Given the description of an element on the screen output the (x, y) to click on. 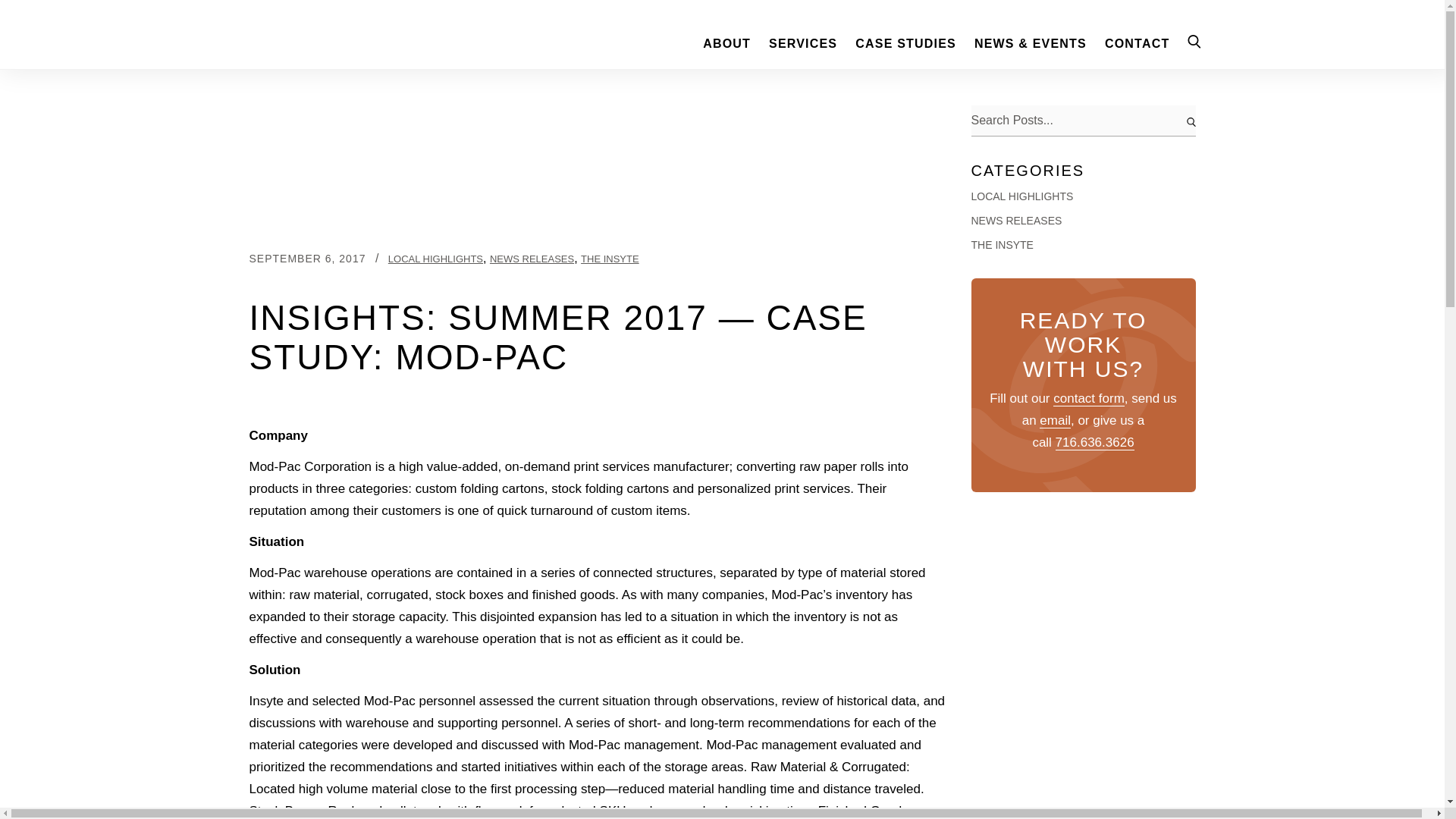
THE INSYTE (609, 258)
CASE STUDIES (906, 43)
LOCAL HIGHLIGHTS (435, 258)
SERVICES (802, 43)
ABOUT (727, 43)
NEWS RELEASES (1016, 220)
NEWS RELEASES (531, 258)
LOCAL HIGHLIGHTS (1022, 196)
contact form (1088, 398)
THE INSYTE (1001, 245)
